Given the description of an element on the screen output the (x, y) to click on. 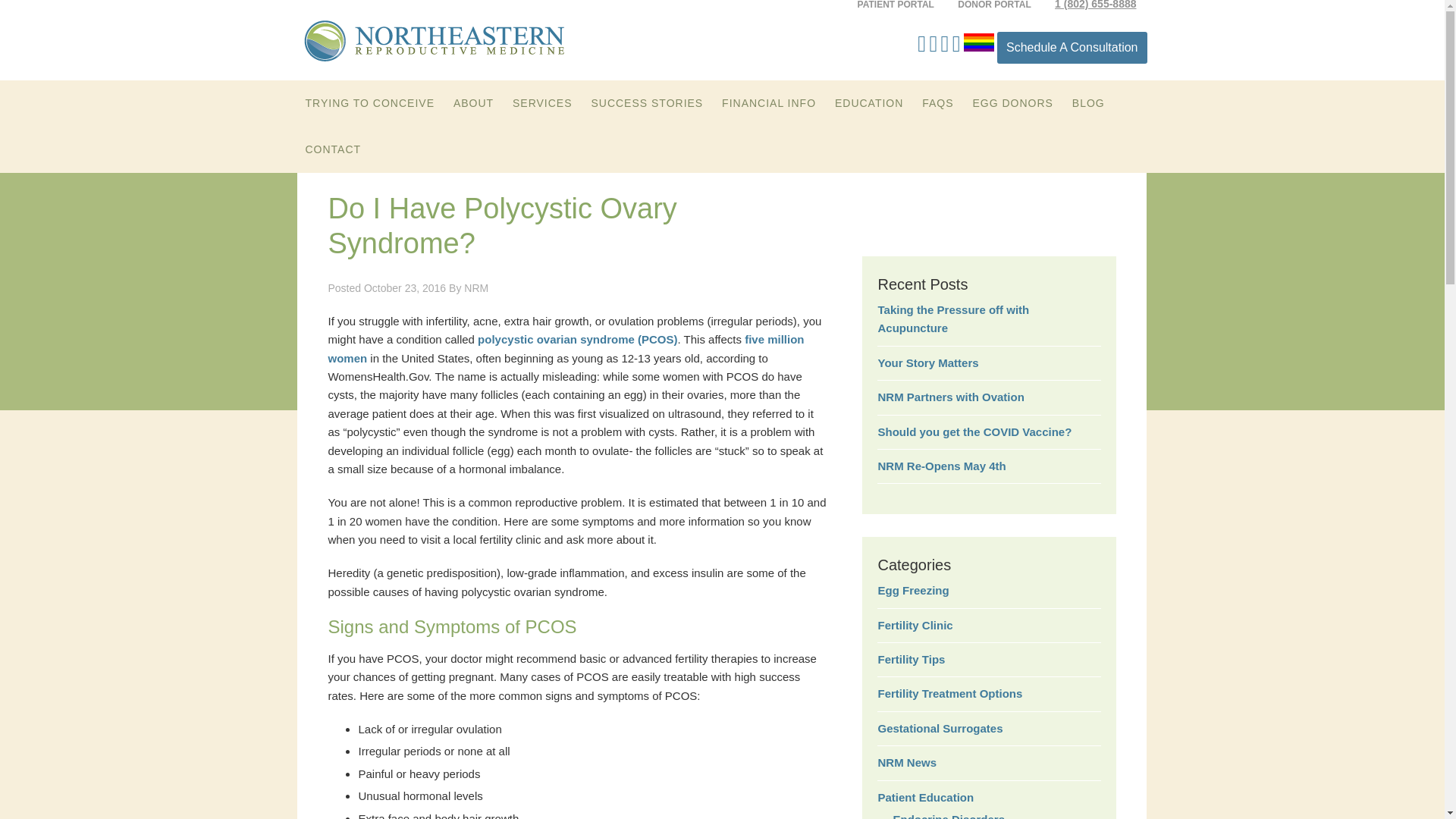
DONOR PORTAL (994, 6)
ABOUT (472, 103)
TRYING TO CONCEIVE (369, 103)
PATIENT PORTAL (895, 6)
SERVICES (542, 103)
Schedule A Consultation (1072, 47)
Northeastern Reproductive Medicine (433, 43)
